Given the description of an element on the screen output the (x, y) to click on. 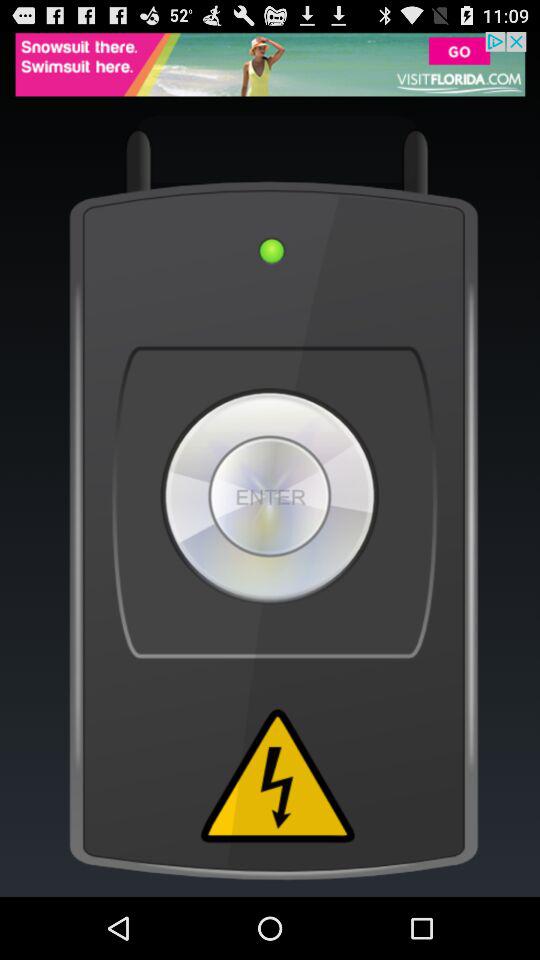
go to advertisement (270, 64)
